Given the description of an element on the screen output the (x, y) to click on. 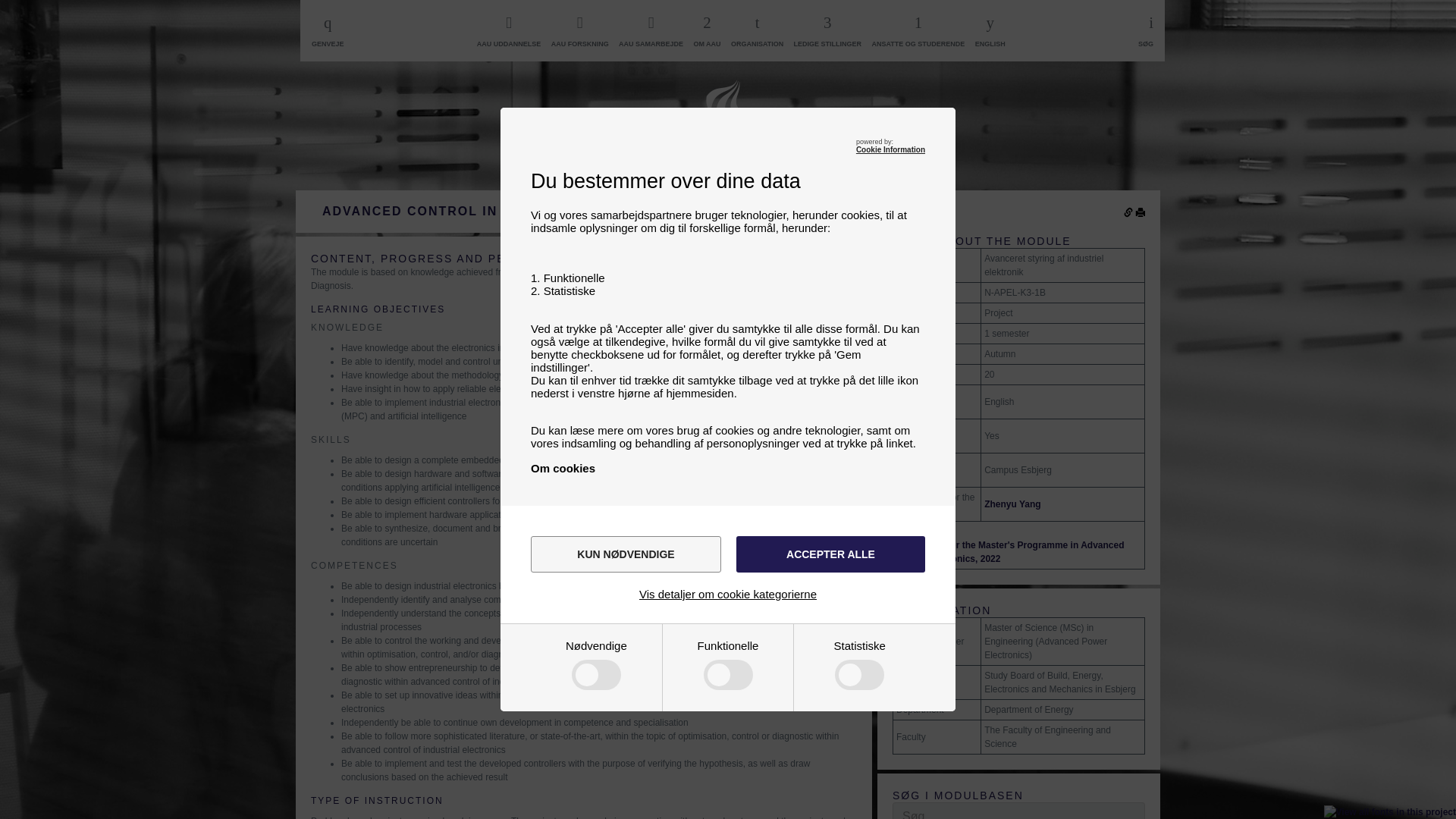
Om cookies (563, 468)
Cookie Information (890, 149)
Vis detaljer om cookie kategorierne (727, 594)
ACCEPTER ALLE (830, 554)
FUNKTIONELLE (579, 742)
